Given the description of an element on the screen output the (x, y) to click on. 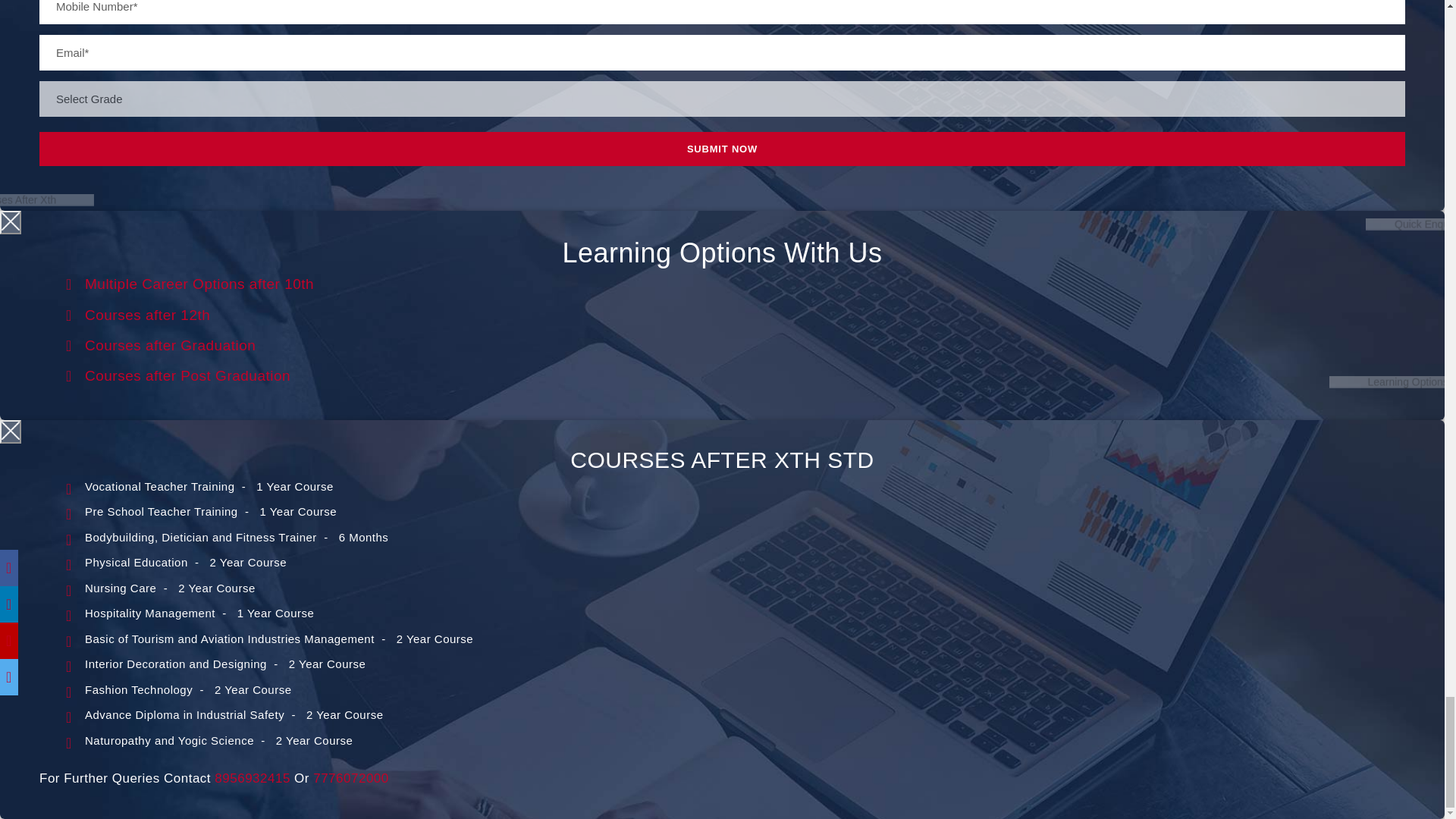
Submit Now (722, 148)
